Given the description of an element on the screen output the (x, y) to click on. 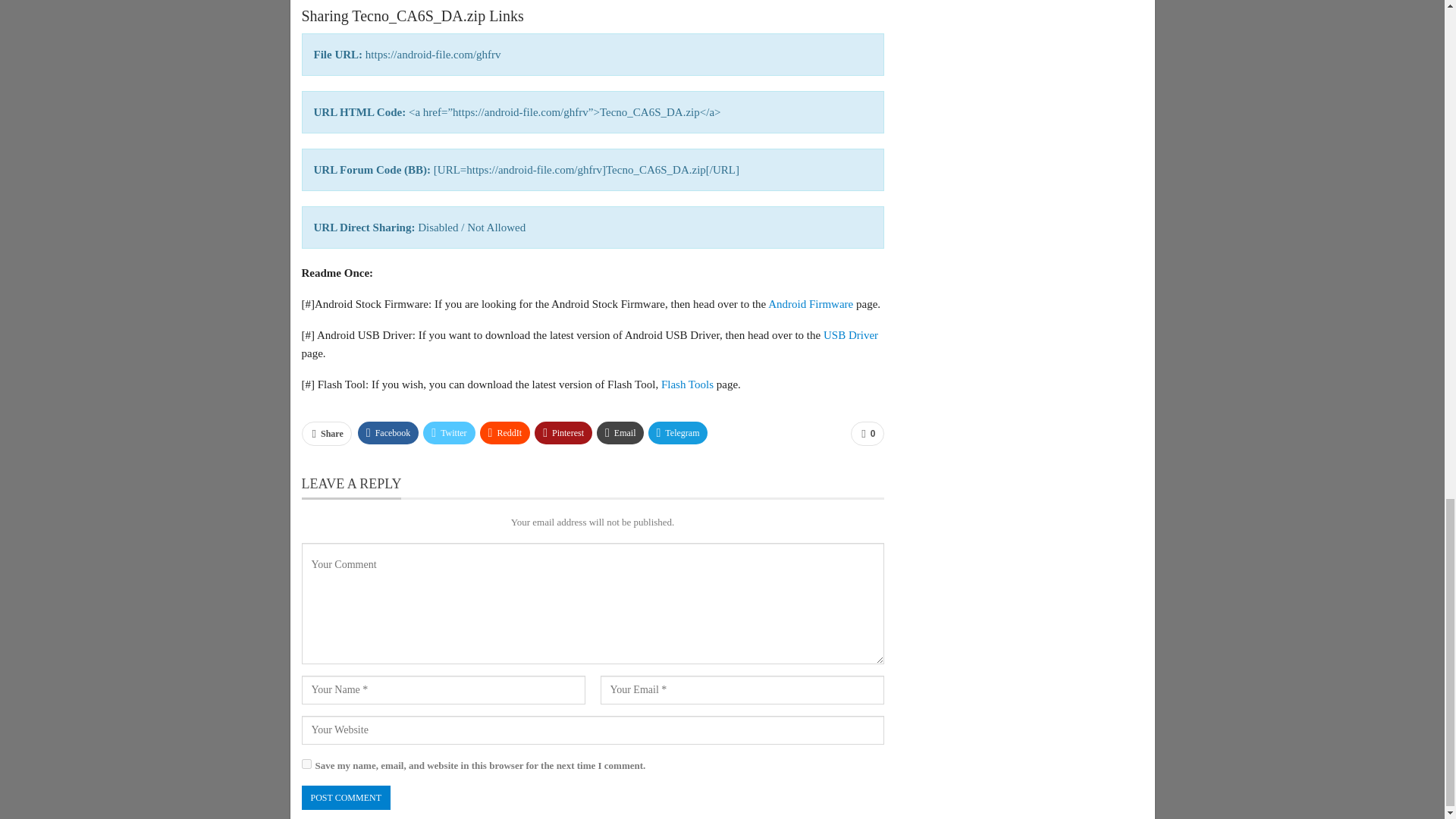
Twitter (448, 432)
Post Comment (345, 797)
USB Driver (850, 335)
Facebook (388, 432)
Post Comment (345, 797)
Telegram (677, 432)
Flash Tools (687, 384)
yes (306, 764)
Pinterest (563, 432)
Android Firmware (810, 304)
0 (866, 433)
Email (620, 432)
ReddIt (505, 432)
